Given the description of an element on the screen output the (x, y) to click on. 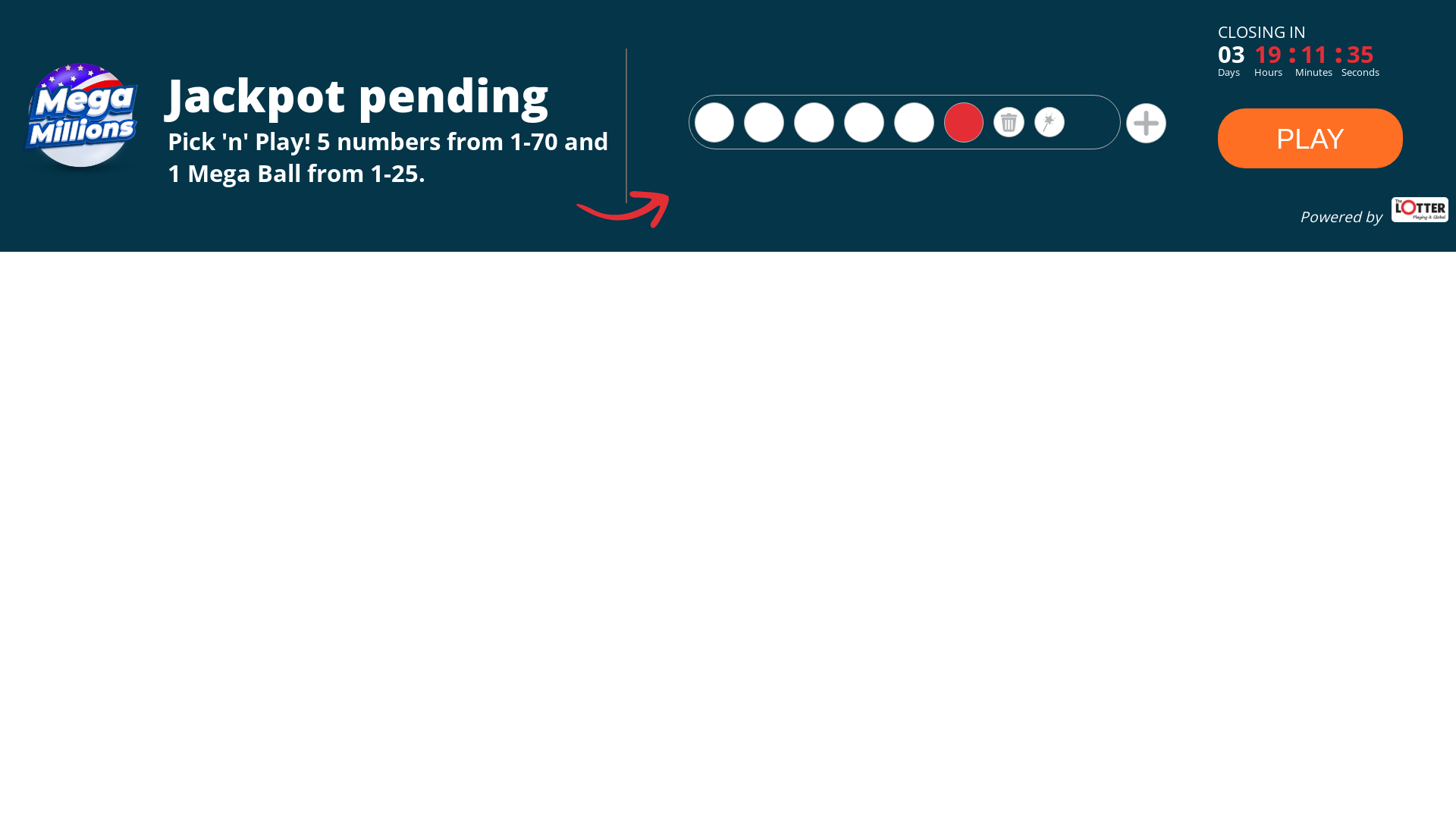
PLAY Element type: text (1310, 139)
